Given the description of an element on the screen output the (x, y) to click on. 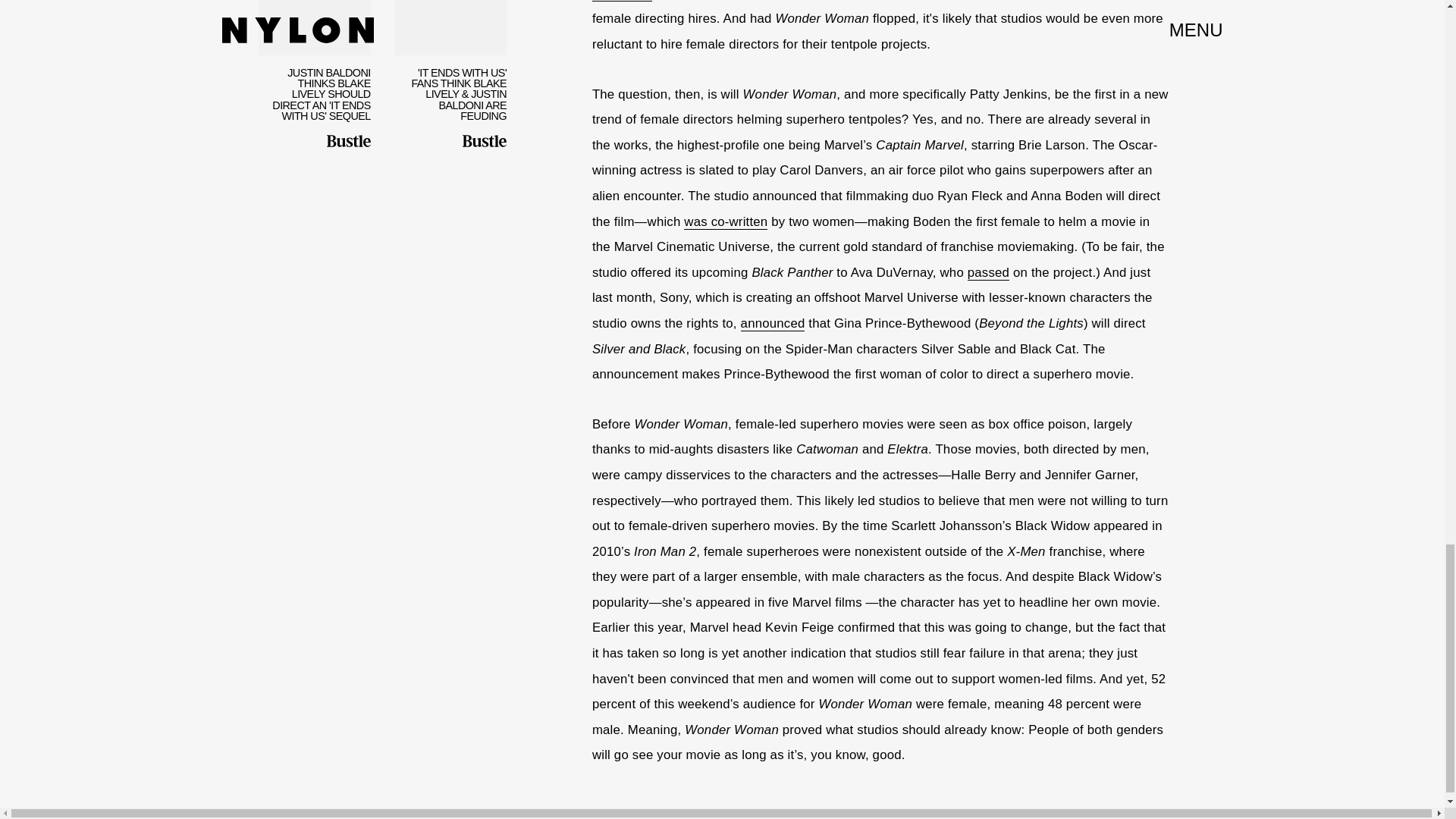
announced (773, 323)
passed (988, 272)
was co-written (725, 222)
